Given the description of an element on the screen output the (x, y) to click on. 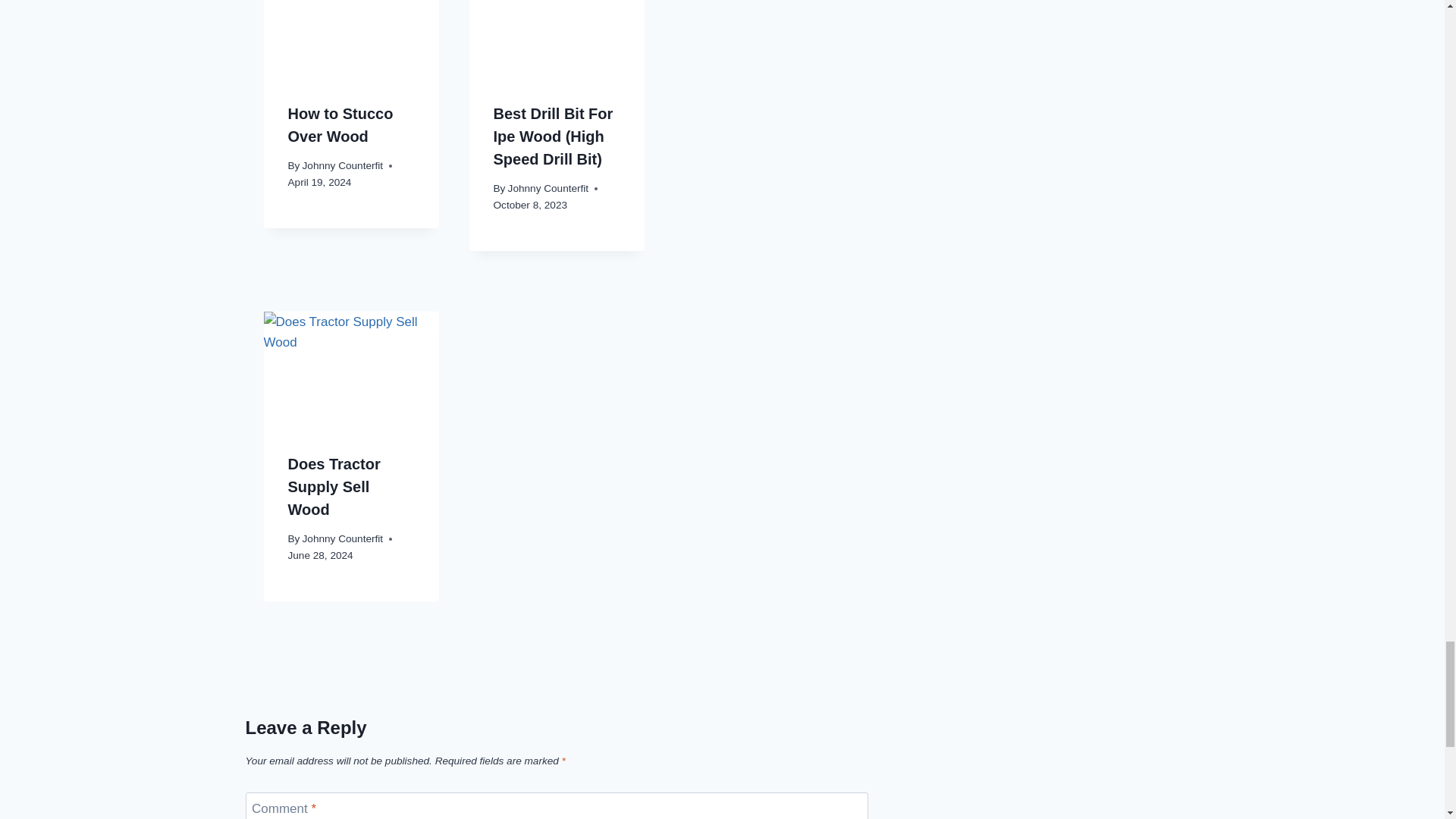
How to Stucco Over Wood (340, 124)
